Given the description of an element on the screen output the (x, y) to click on. 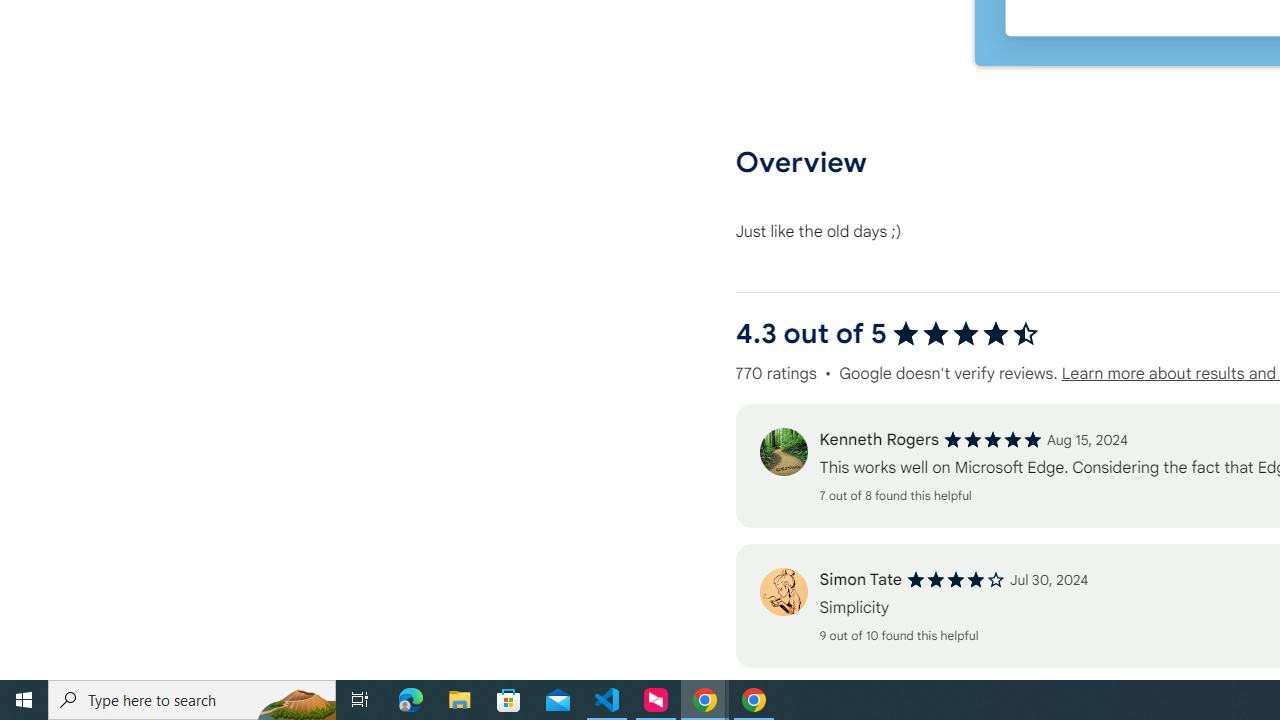
4.3 out of 5 stars (965, 334)
5 out of 5 stars (992, 439)
Review's profile picture (783, 592)
4 out of 5 stars (956, 580)
